Given the description of an element on the screen output the (x, y) to click on. 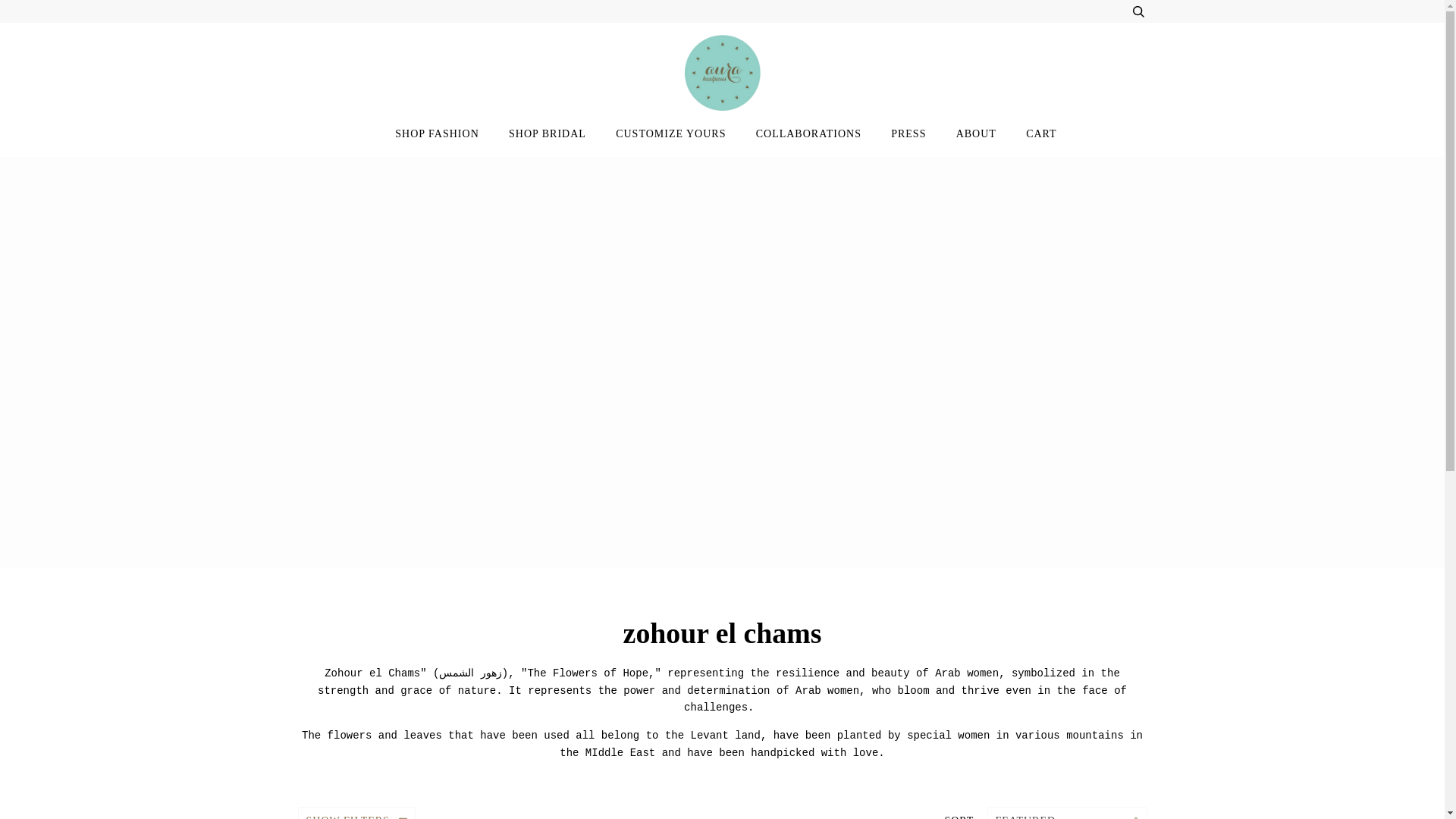
COLLABORATIONS (808, 134)
CUSTOMIZE YOURS (670, 134)
SHOP BRIDAL (547, 134)
SHOP FASHION (436, 134)
